Given the description of an element on the screen output the (x, y) to click on. 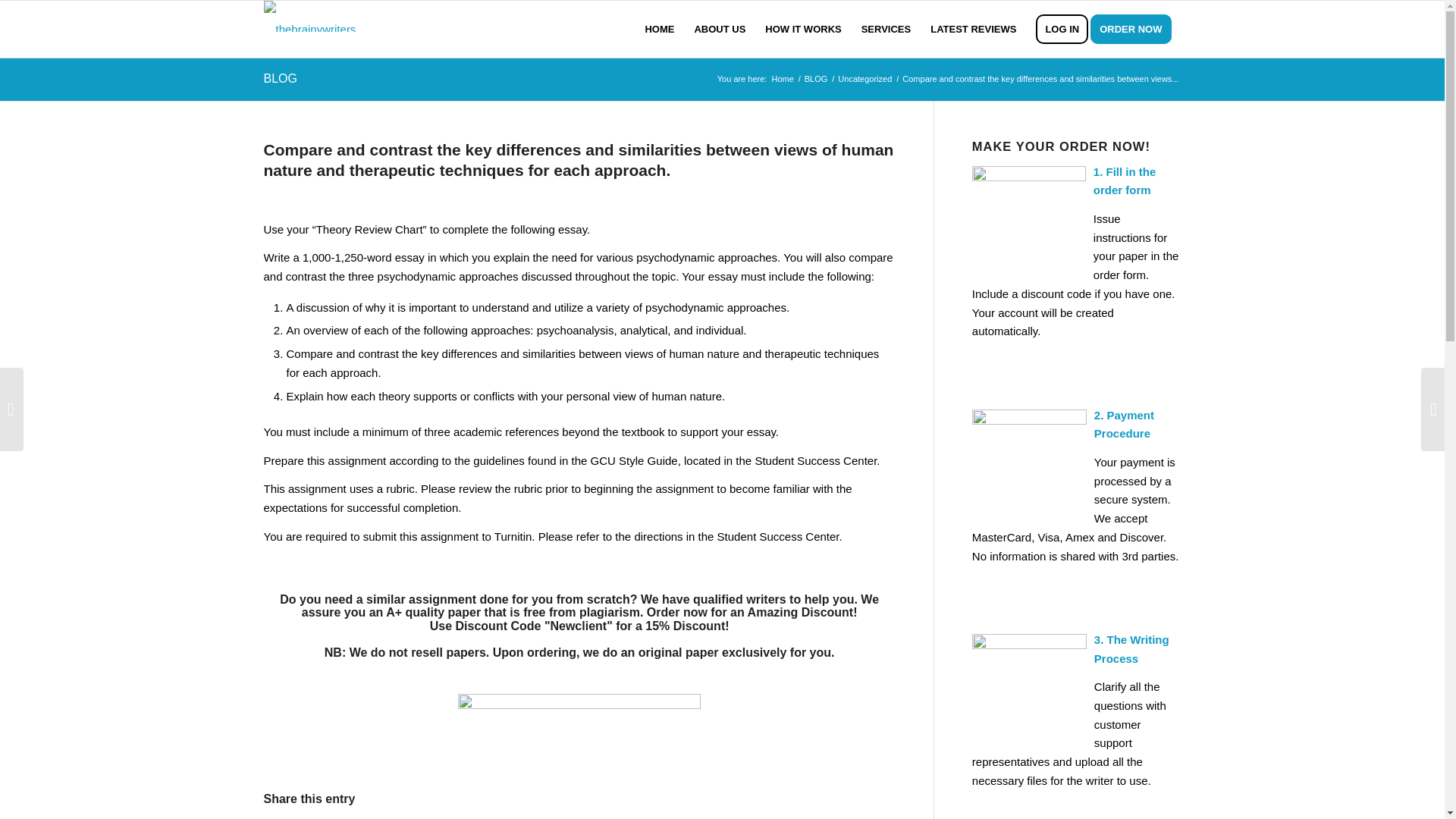
LATEST REVIEWS (973, 28)
thebrainywriters (781, 79)
BLOG (280, 78)
BLOG (815, 79)
Permanent Link: BLOG (280, 78)
ABOUT US (719, 28)
SERVICES (886, 28)
Home (781, 79)
HOW IT WORKS (802, 28)
LOG IN (1061, 28)
ORDER NOW (1135, 28)
BLOG (815, 79)
Uncategorized (864, 79)
